Given the description of an element on the screen output the (x, y) to click on. 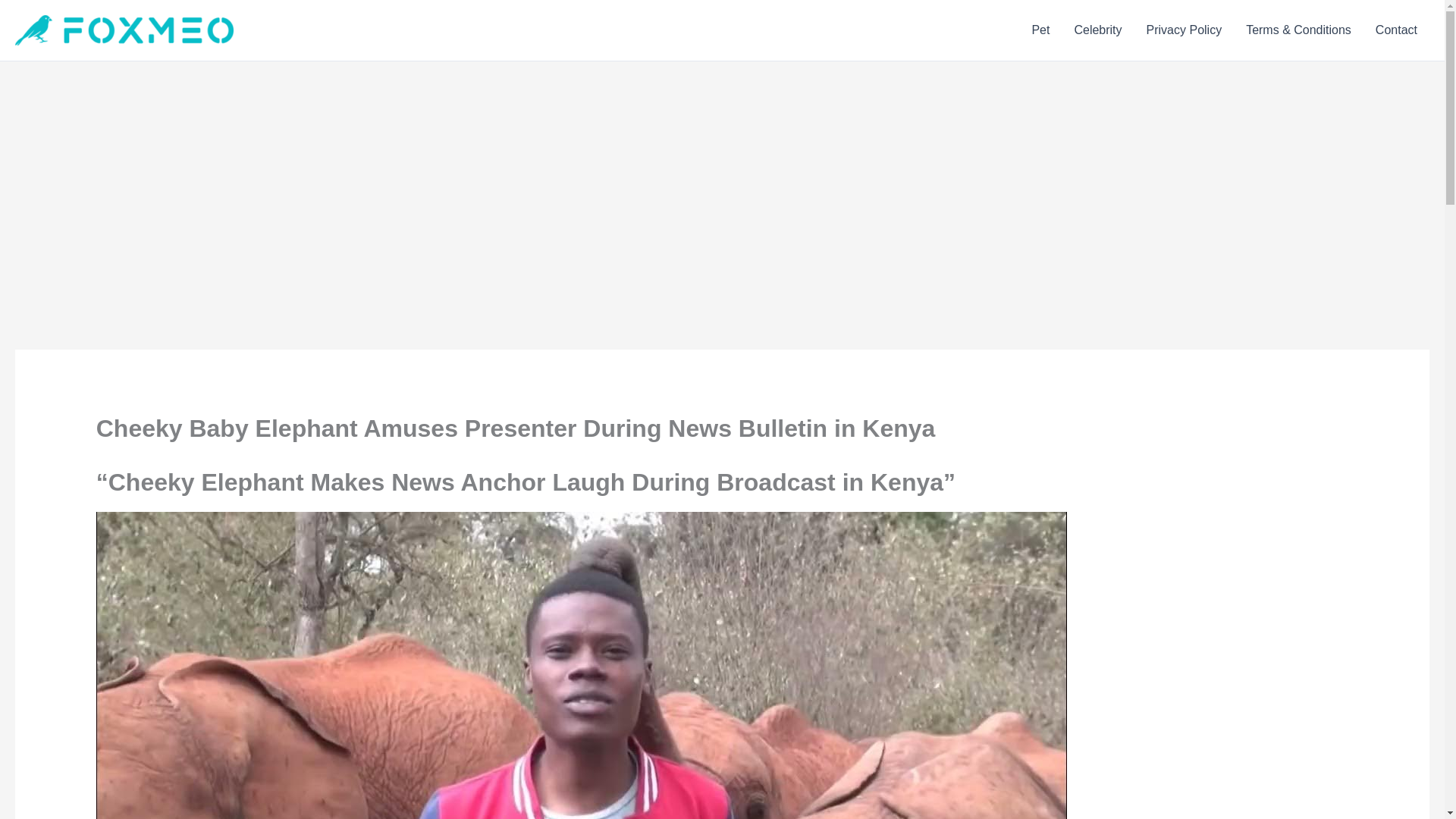
Celebrity (1097, 30)
Contact (1395, 30)
Privacy Policy (1184, 30)
